Given the description of an element on the screen output the (x, y) to click on. 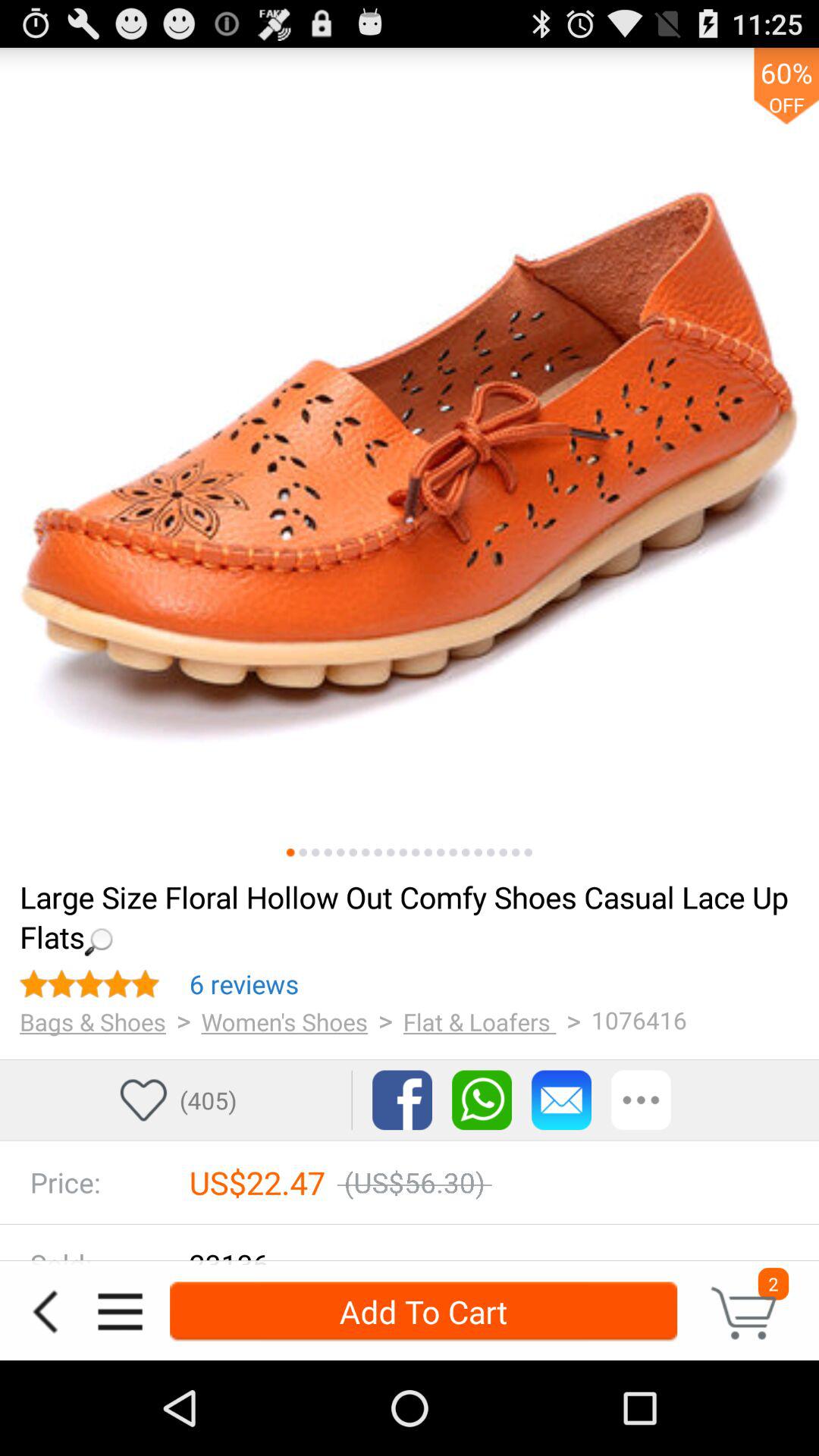
go to fourth sample image (328, 852)
